Given the description of an element on the screen output the (x, y) to click on. 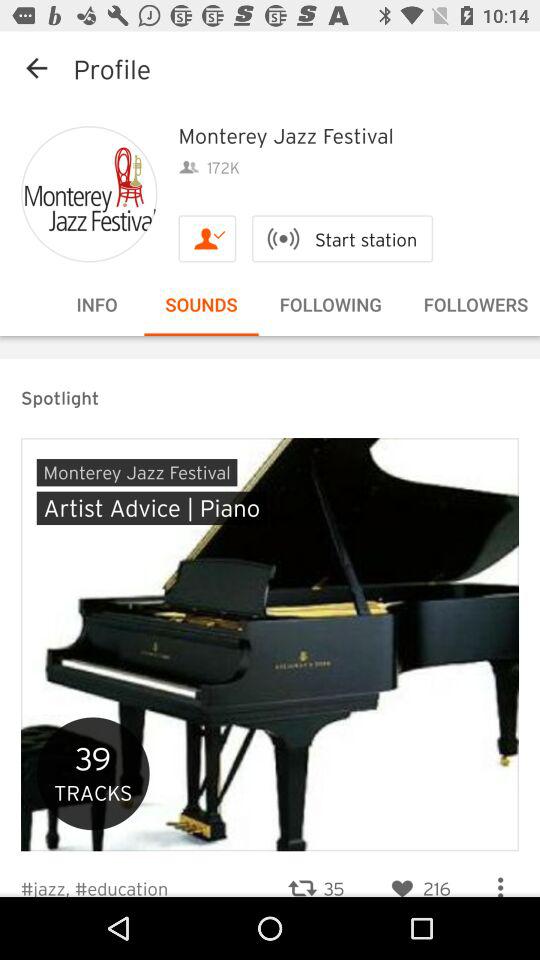
more options (500, 879)
